Given the description of an element on the screen output the (x, y) to click on. 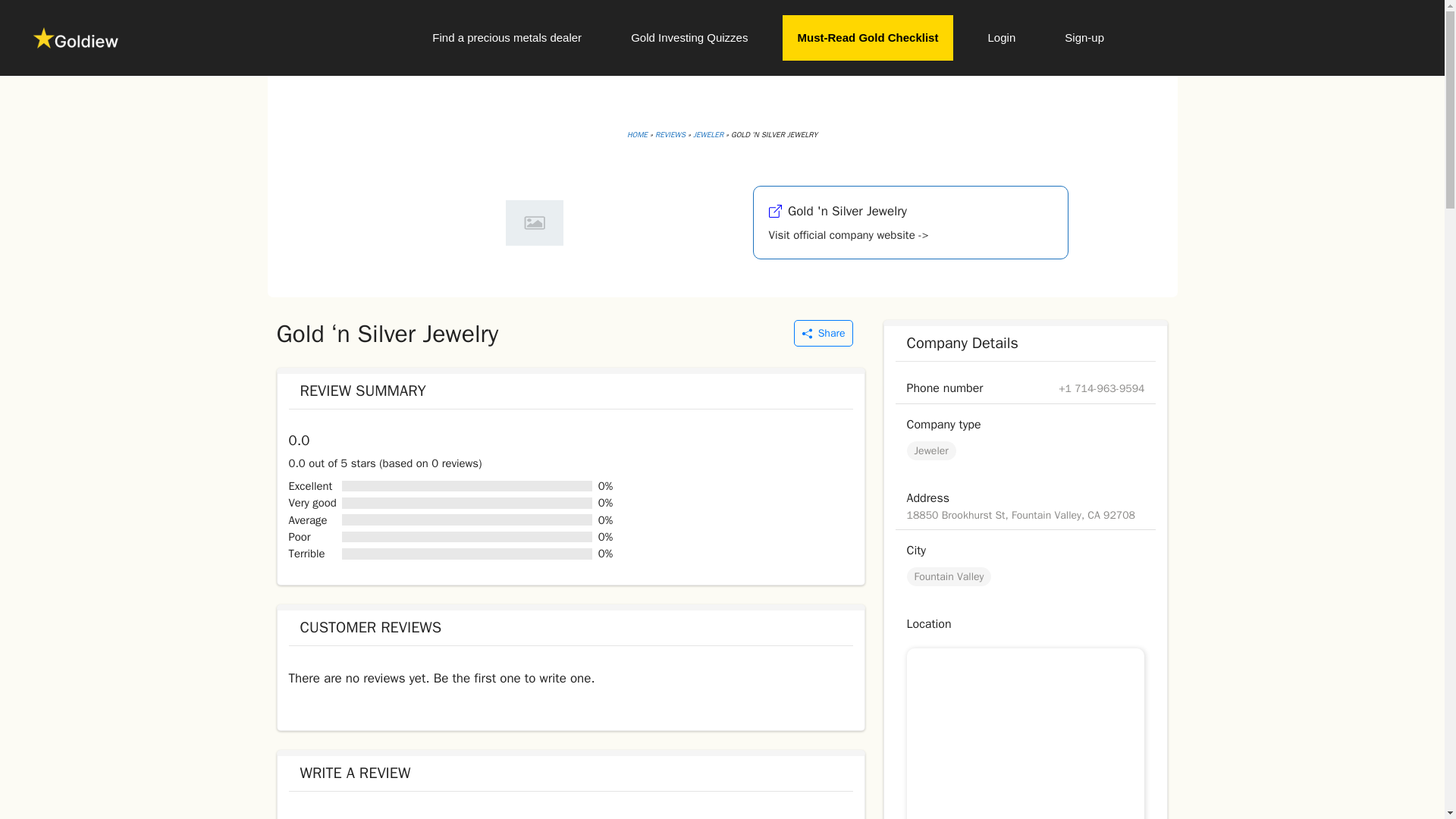
logged in (387, 817)
JEWELER (708, 134)
Jeweler (931, 450)
Login (1001, 37)
HOME (637, 134)
Fountain Valley (949, 576)
Must-Read Gold Checklist (868, 37)
Sign-up (1084, 37)
Find a precious metals dealer (506, 37)
REVIEWS (670, 134)
